Given the description of an element on the screen output the (x, y) to click on. 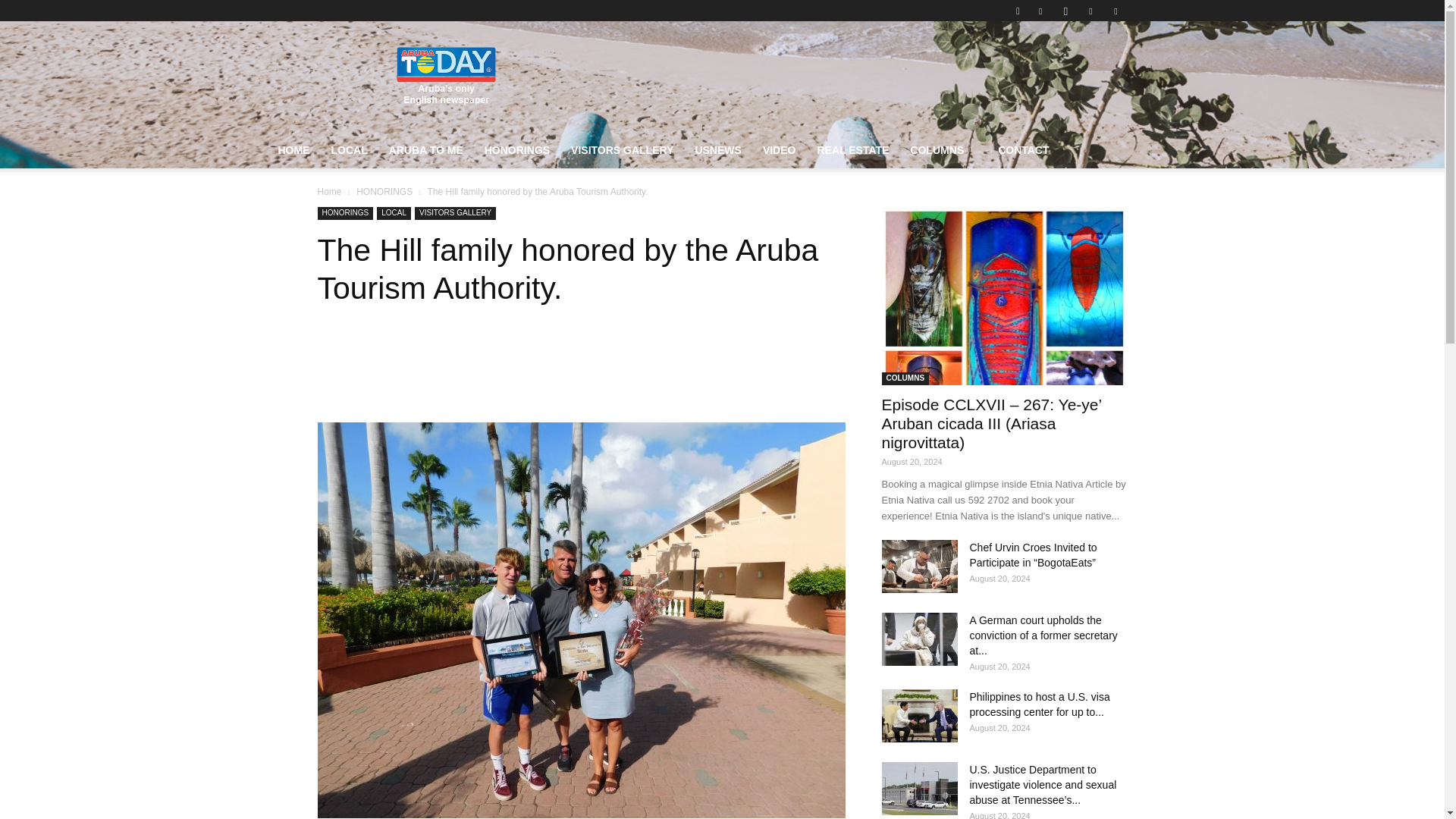
VIDEO (779, 149)
View all posts in HONORINGS (384, 191)
HOME (293, 149)
Search (1085, 64)
ARUBA TO ME (426, 149)
LOCAL (348, 149)
Instagram (1065, 10)
VISITORS GALLERY (622, 149)
Youtube (1114, 10)
HONORINGS (517, 149)
